Given the description of an element on the screen output the (x, y) to click on. 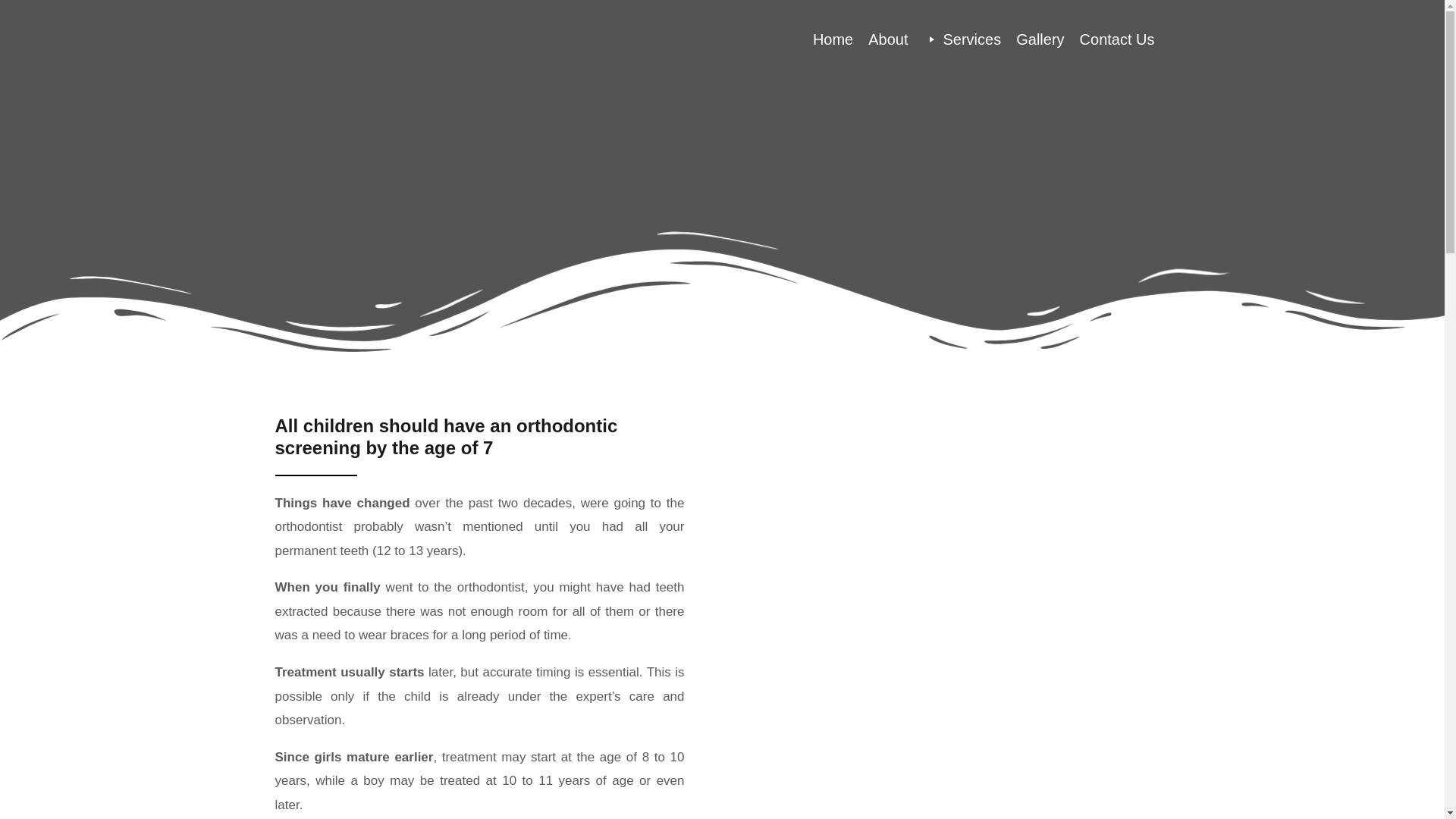
Contact Us (1116, 39)
Services (962, 39)
Home (832, 39)
About (887, 39)
Gallery (1040, 39)
